Given the description of an element on the screen output the (x, y) to click on. 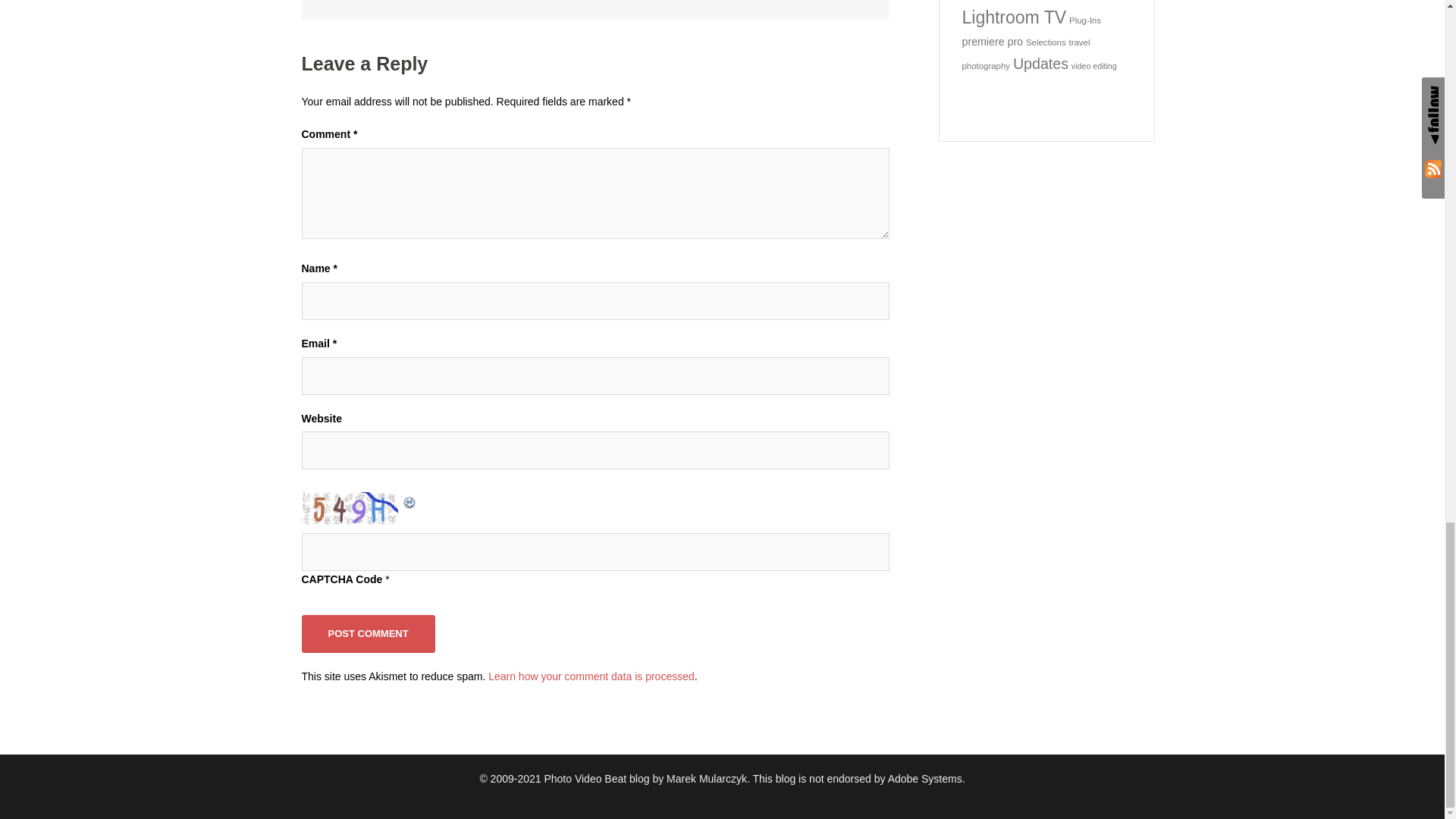
Learn how your comment data is processed (590, 676)
CAPTCHA (351, 508)
Post Comment (368, 633)
Post Comment (368, 633)
Refresh (410, 500)
